Given the description of an element on the screen output the (x, y) to click on. 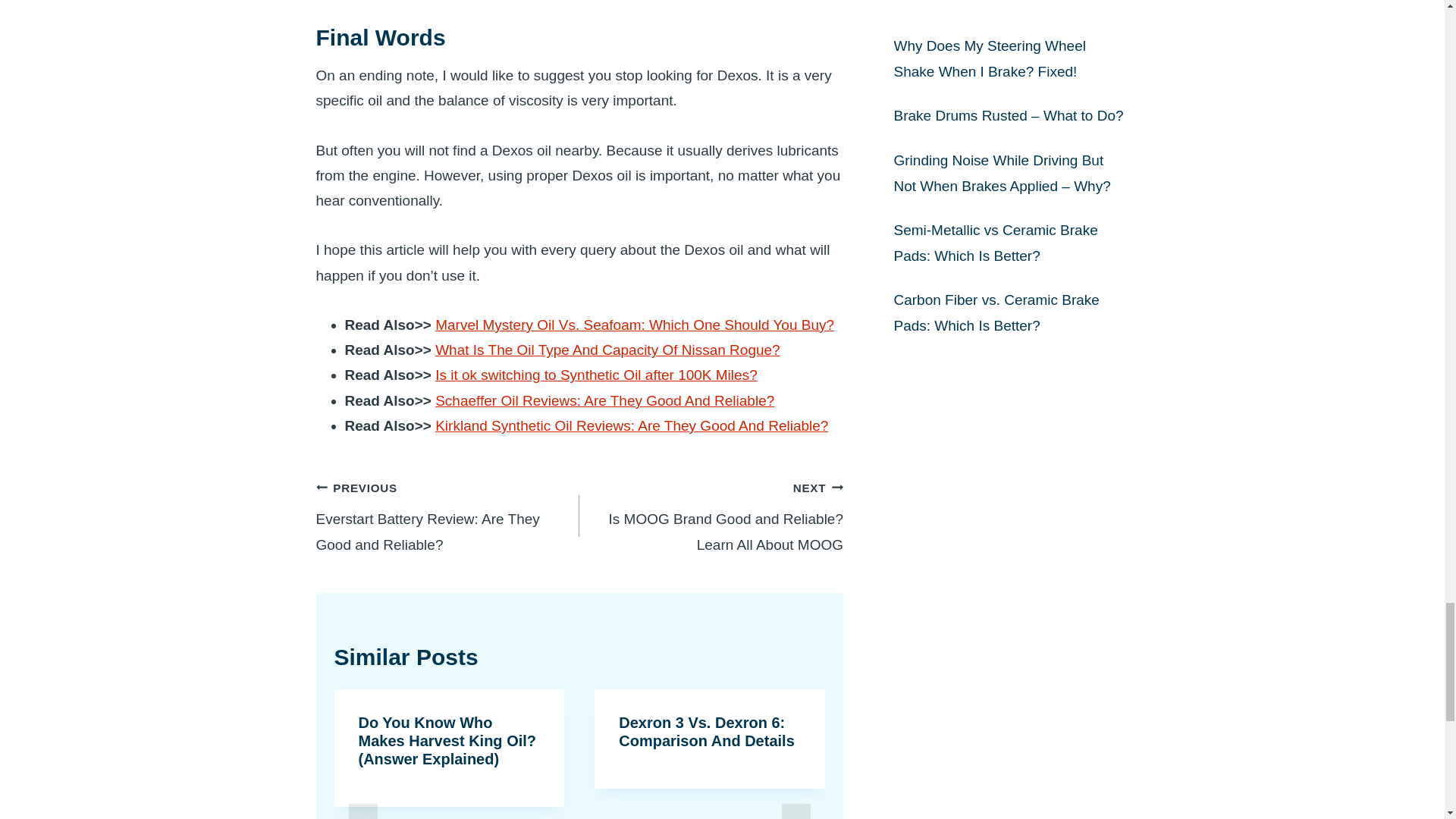
Dexron 3 Vs. Dexron 6: Comparison And Details (706, 731)
Marvel Mystery Oil Vs. Seafoam: Which One Should You Buy? (634, 324)
Is it ok switching to Synthetic Oil after 100K Miles? (711, 516)
Schaeffer Oil Reviews: Are They Good And Reliable? (596, 374)
What Is The Oil Type And Capacity Of Nissan Rogue? (604, 400)
Kirkland Synthetic Oil Reviews: Are They Good And Reliable? (606, 349)
